Given the description of an element on the screen output the (x, y) to click on. 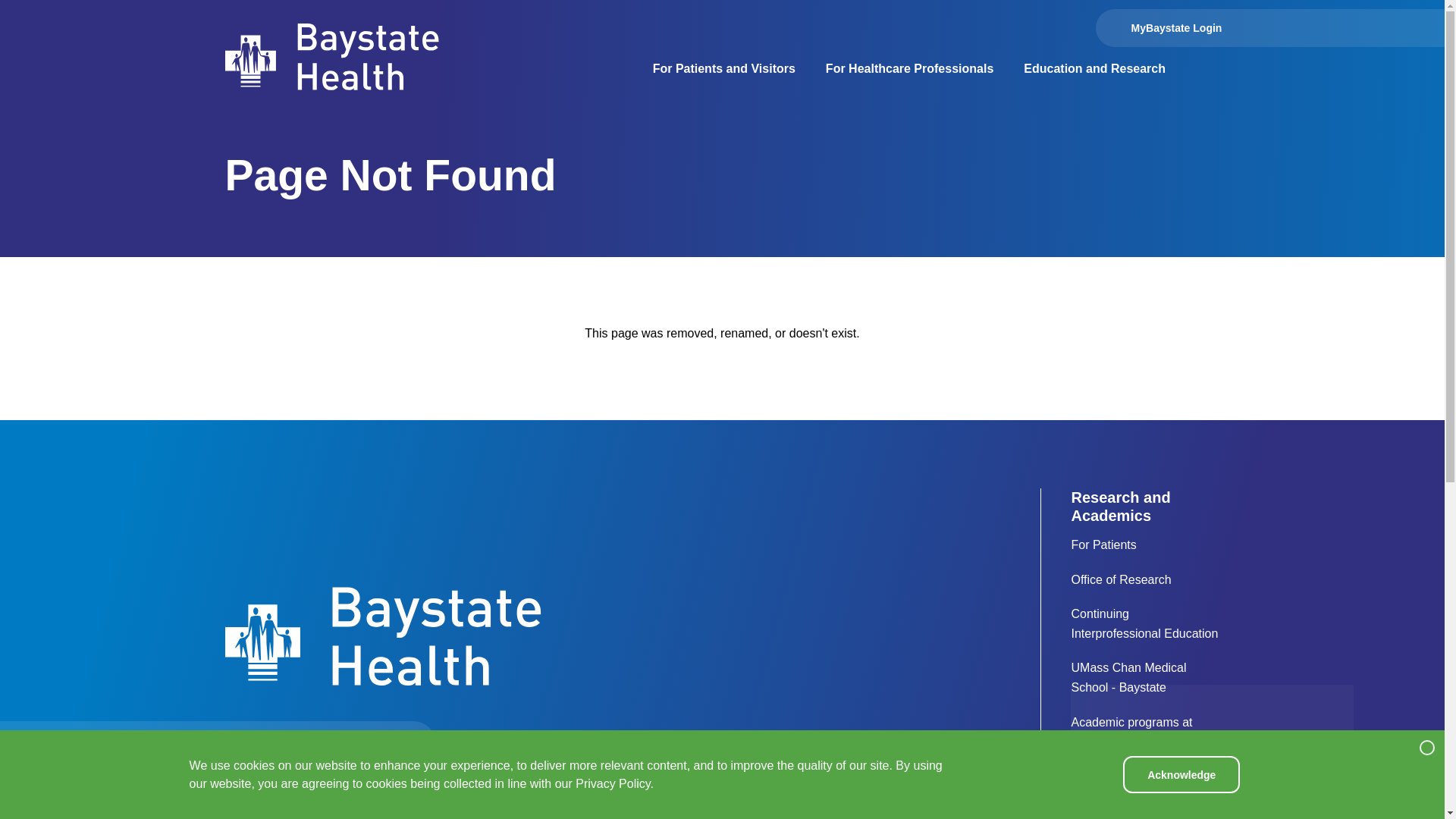
Acknowledge (1181, 774)
Education and Research (1094, 68)
For Healthcare Professionals (908, 68)
For Patients and Visitors (723, 68)
MyBaystate Login (1157, 27)
